Given the description of an element on the screen output the (x, y) to click on. 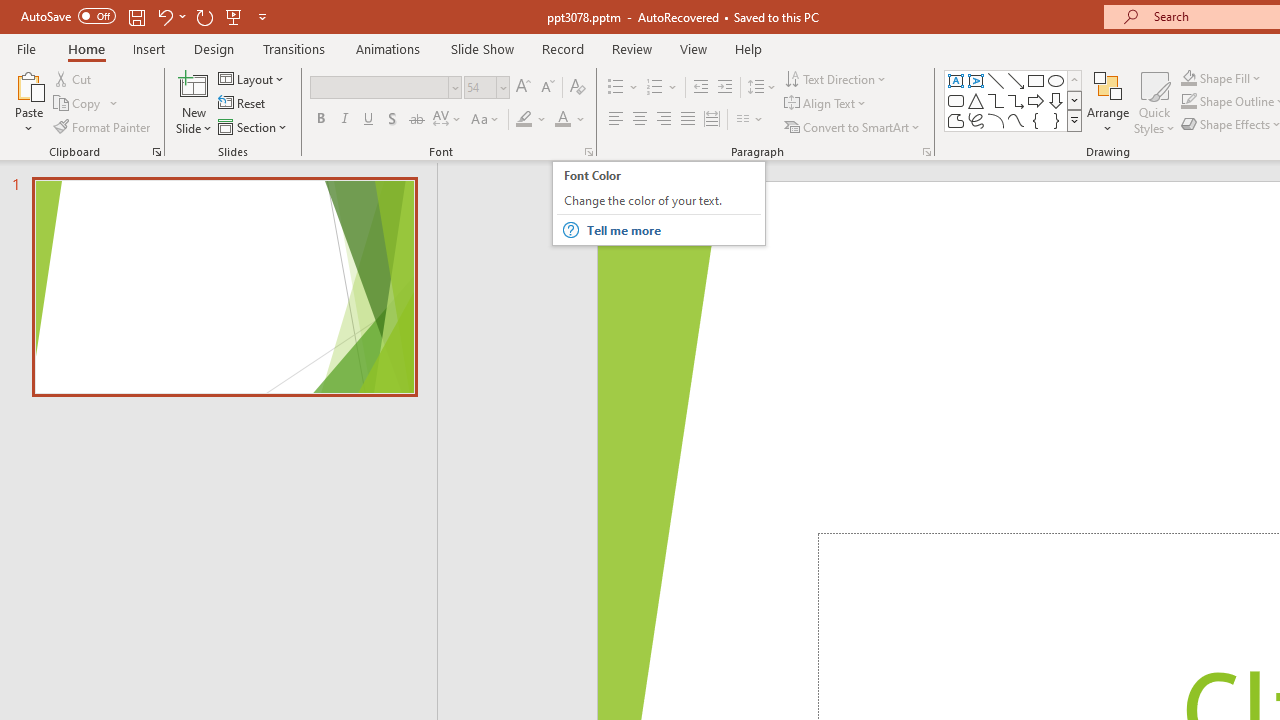
Font (385, 87)
Connector: Elbow (995, 100)
Open (502, 87)
Layout (252, 78)
Increase Font Size (522, 87)
Shape Fill Dark Green, Accent 2 (1188, 78)
Cut (73, 78)
System (10, 11)
Slide Show (481, 48)
Font (379, 87)
Decrease Indent (700, 87)
Animations (388, 48)
Vertical Text Box (975, 80)
Bullets (623, 87)
Paste (28, 84)
